Given the description of an element on the screen output the (x, y) to click on. 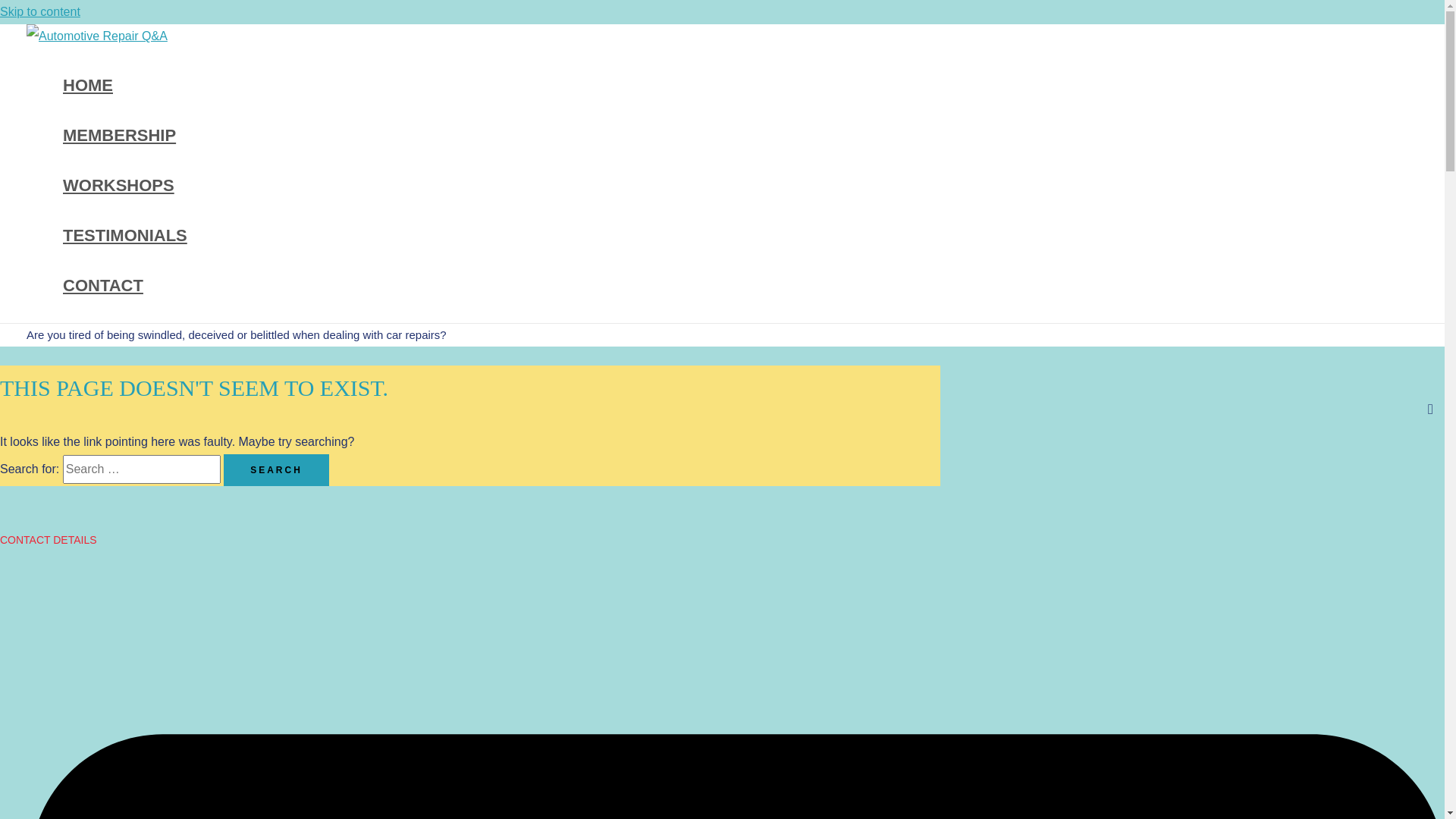
HOME Element type: text (124, 85)
WORKSHOPS Element type: text (124, 185)
Skip to content Element type: text (40, 11)
MEMBERSHIP Element type: text (124, 135)
TESTIMONIALS Element type: text (124, 235)
Search Element type: text (276, 470)
CONTACT Element type: text (124, 285)
